Given the description of an element on the screen output the (x, y) to click on. 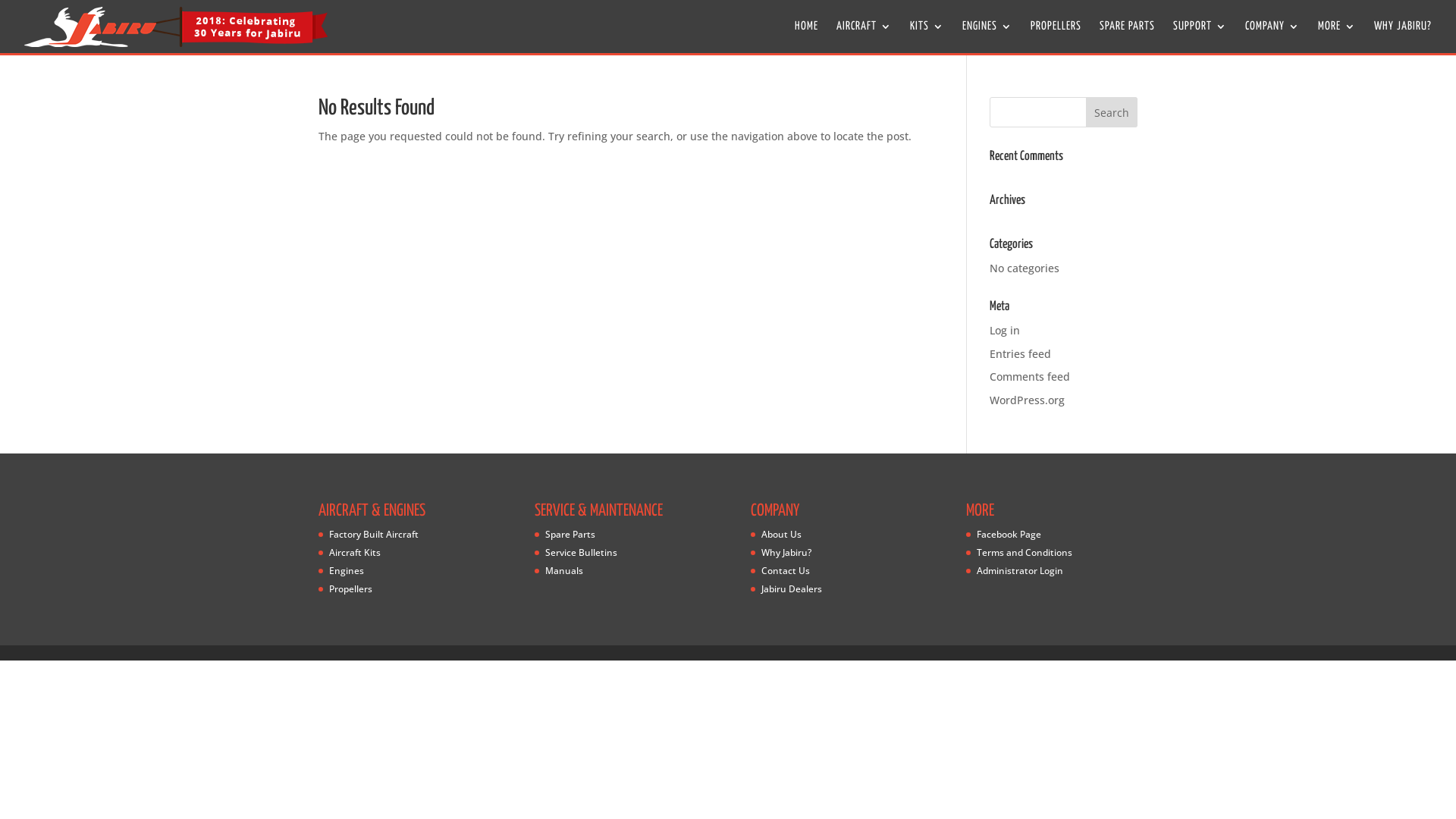
Comments feed Element type: text (1029, 376)
Why Jabiru? Element type: text (786, 552)
SUPPORT Element type: text (1199, 37)
Manuals Element type: text (564, 570)
Aircraft Kits Element type: text (354, 552)
Search Element type: text (1111, 112)
COMPANY Element type: text (1272, 37)
Factory Built Aircraft Element type: text (373, 533)
Engines Element type: text (346, 570)
KITS Element type: text (927, 37)
HOME Element type: text (806, 37)
About Us Element type: text (781, 533)
PROPELLERS Element type: text (1055, 37)
Propellers Element type: text (350, 588)
Contact Us Element type: text (785, 570)
WHY JABIRU? Element type: text (1402, 37)
Administrator Login Element type: text (1019, 570)
Entries feed Element type: text (1020, 353)
WordPress.org Element type: text (1026, 399)
Terms and Conditions Element type: text (1024, 552)
SPARE PARTS Element type: text (1126, 37)
Spare Parts Element type: text (570, 533)
Facebook Page Element type: text (1008, 533)
AIRCRAFT Element type: text (863, 37)
MORE Element type: text (1336, 37)
ENGINES Element type: text (987, 37)
Service Bulletins Element type: text (581, 552)
Jabiru Dealers Element type: text (791, 588)
Log in Element type: text (1004, 330)
